Given the description of an element on the screen output the (x, y) to click on. 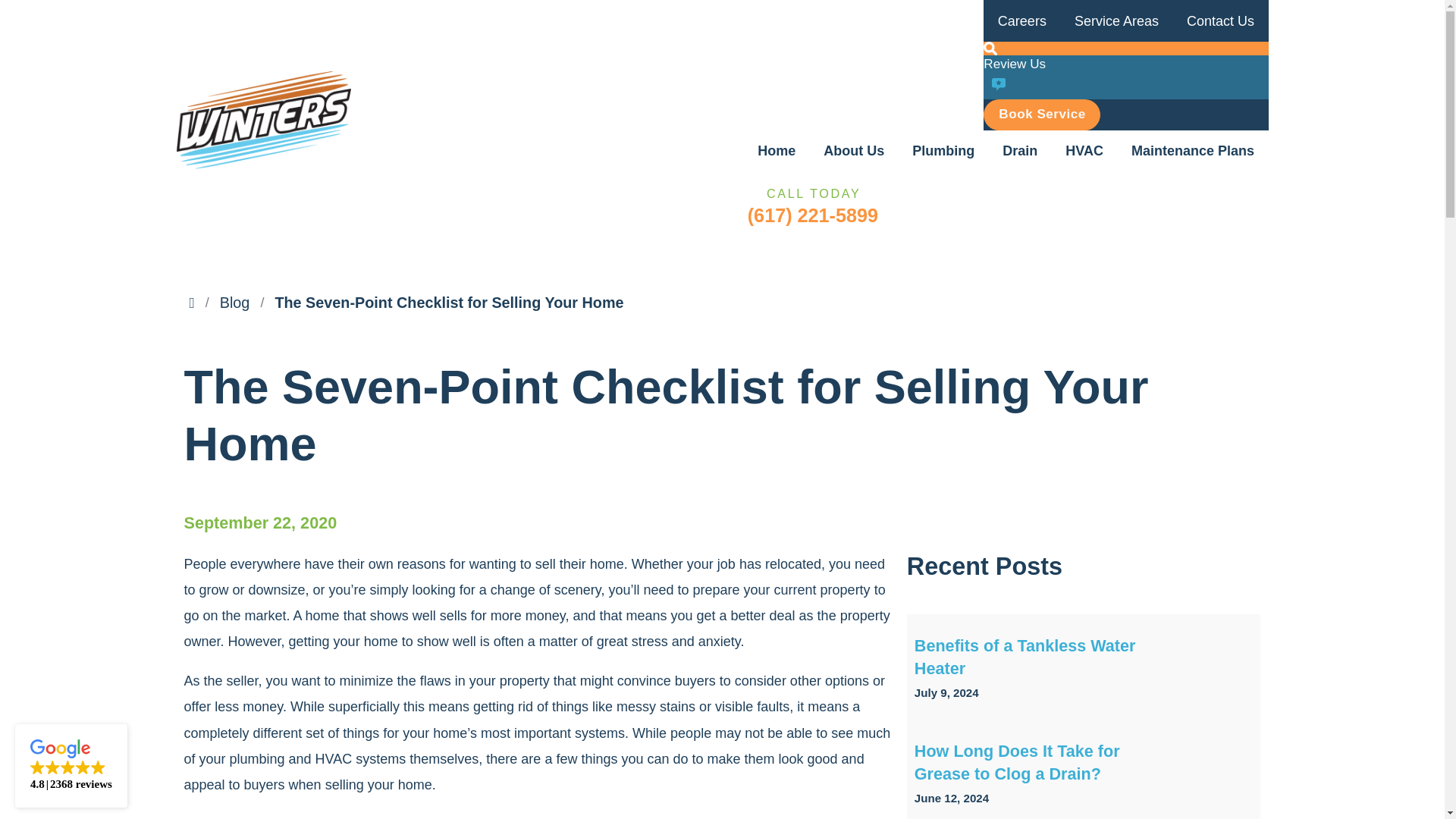
About Us (853, 150)
HVAC (1084, 150)
Contact Us (1220, 20)
Service Areas (1115, 20)
Drain (1019, 150)
Plumbing (943, 150)
Search our site (990, 48)
Review Us (1126, 77)
Careers (1021, 20)
You Are Here (449, 302)
